Given the description of an element on the screen output the (x, y) to click on. 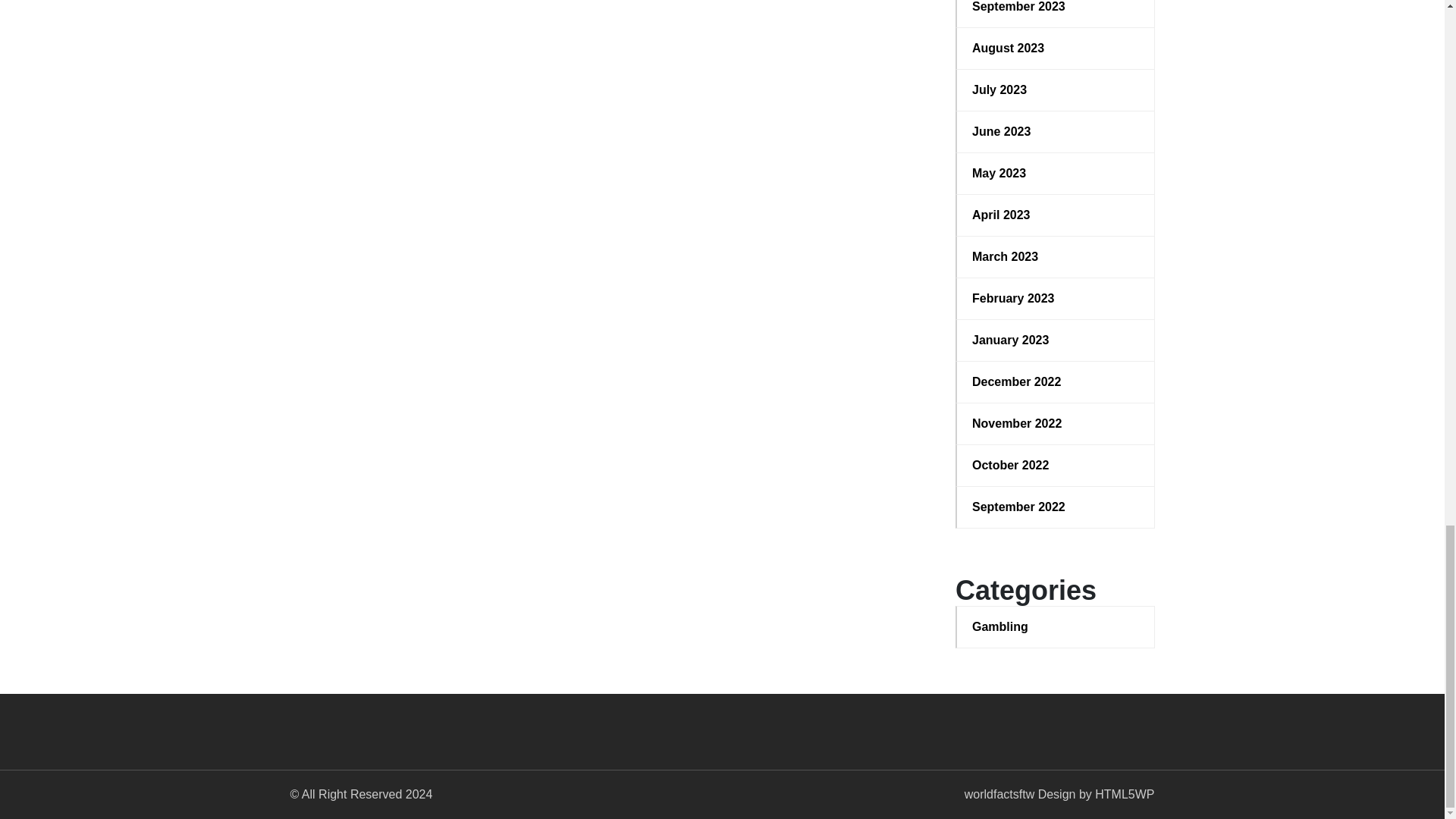
September 2022 (1055, 506)
July 2023 (1055, 90)
June 2023 (1055, 131)
February 2023 (1055, 298)
May 2023 (1055, 173)
October 2022 (1055, 465)
November 2022 (1055, 423)
August 2023 (1055, 48)
September 2023 (1055, 7)
December 2022 (1055, 382)
